Given the description of an element on the screen output the (x, y) to click on. 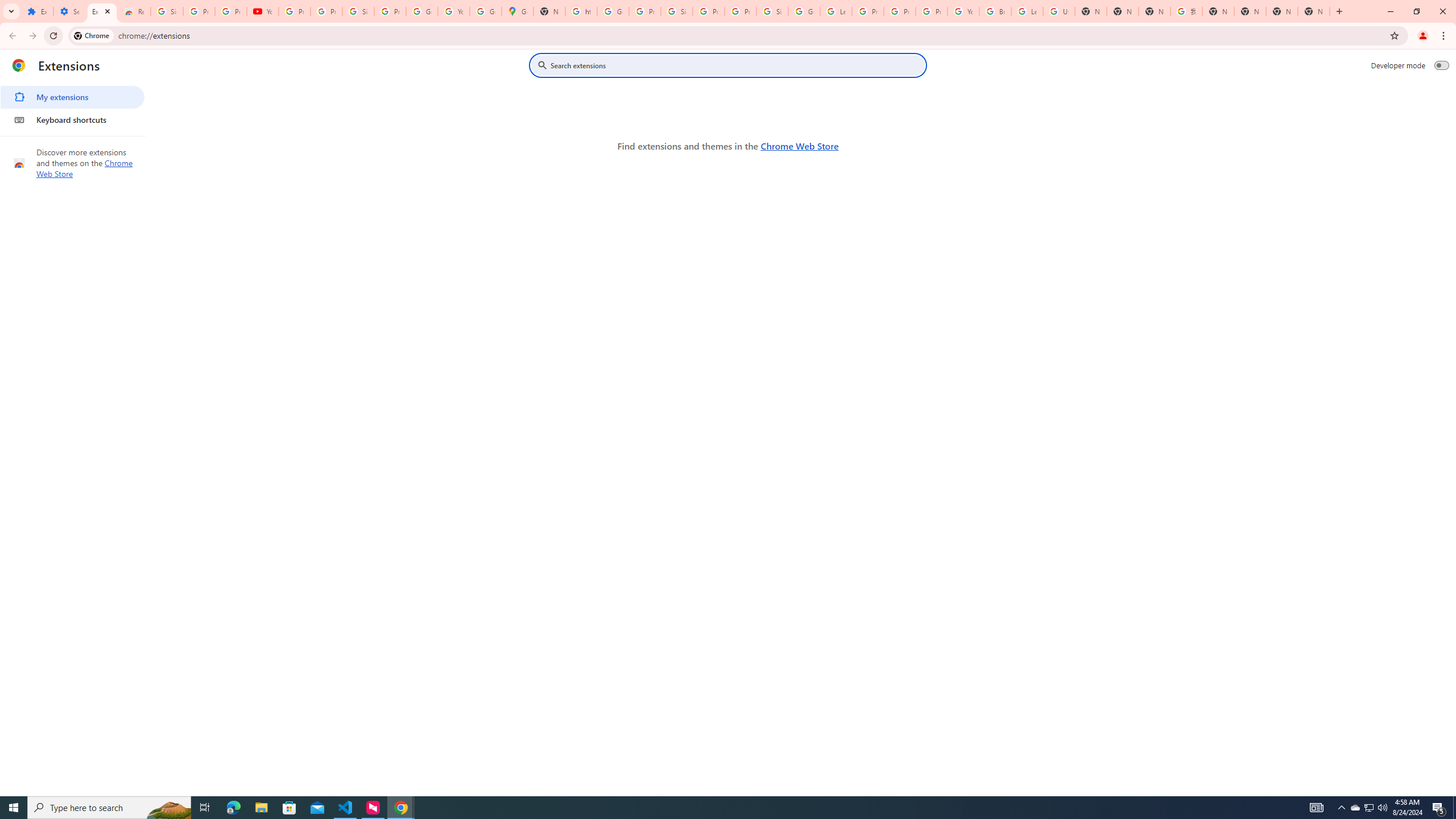
YouTube (453, 11)
AutomationID: sectionMenu (72, 106)
Google Account (421, 11)
Privacy Help Center - Policies Help (868, 11)
Reviews: Helix Fruit Jump Arcade Game (134, 11)
Sign in - Google Accounts (676, 11)
